Given the description of an element on the screen output the (x, y) to click on. 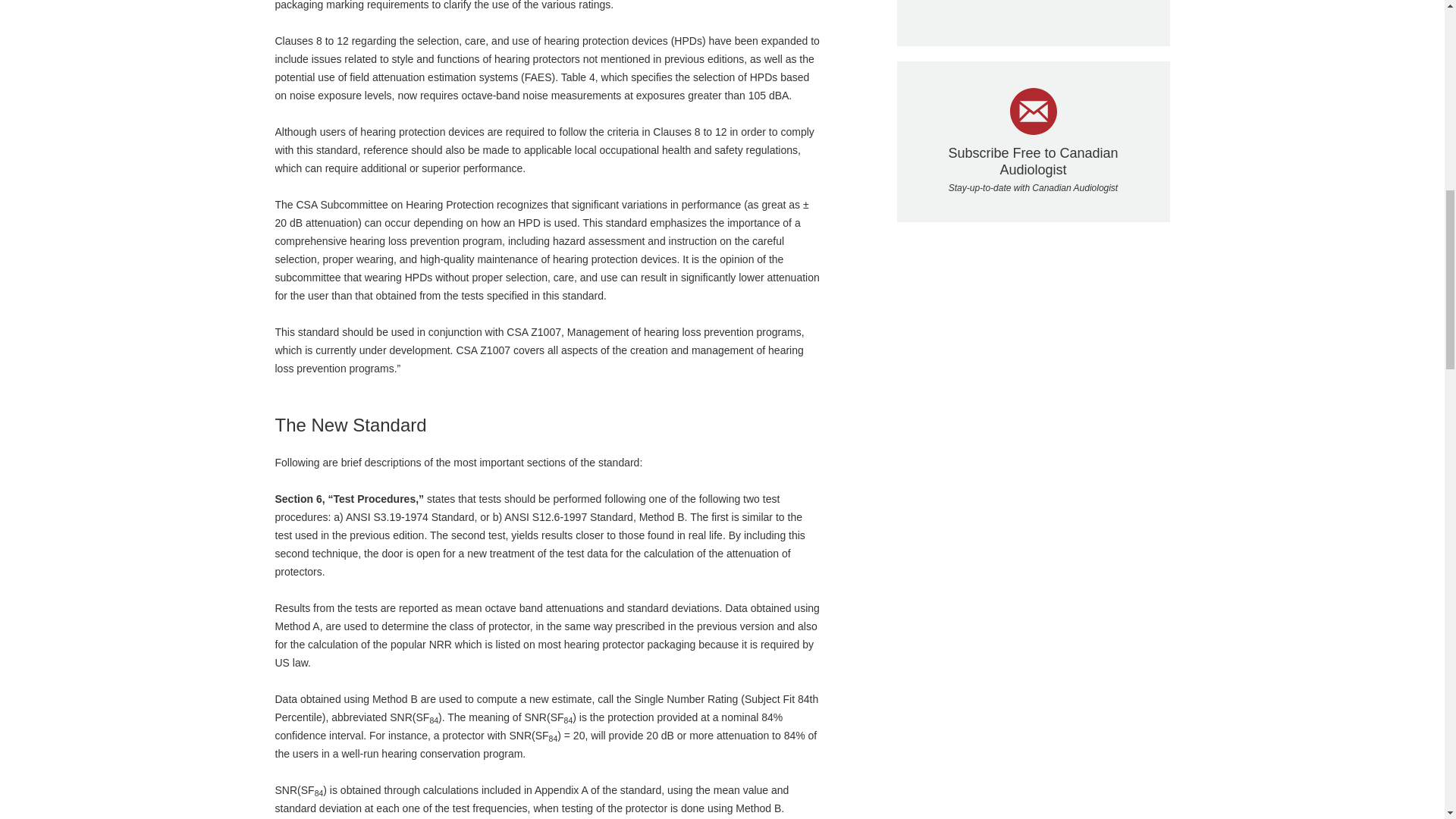
3rd party ad content (1032, 11)
